Given the description of an element on the screen output the (x, y) to click on. 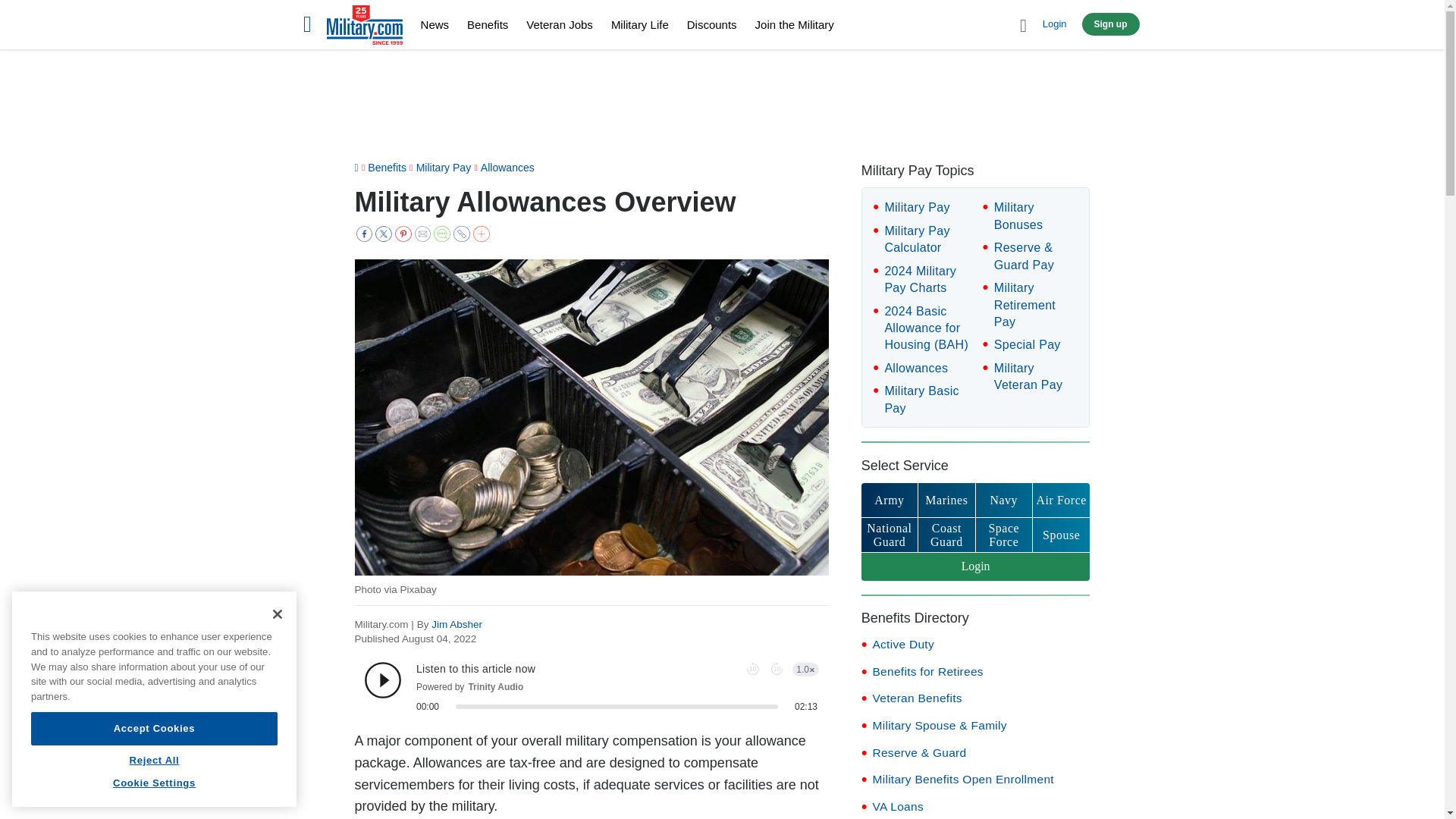
Army login link (889, 499)
Coast Guard login link (946, 534)
National Guard login link (889, 534)
Navy login link (1003, 499)
Veteran Jobs (558, 24)
Trinity Audio Player (591, 686)
Air Force login link (1060, 499)
Marines login link (946, 499)
Space Force login link (1003, 534)
Benefits (487, 24)
Login link (975, 566)
Military Life (639, 24)
Home (364, 27)
Spouse login link (1060, 534)
